Given the description of an element on the screen output the (x, y) to click on. 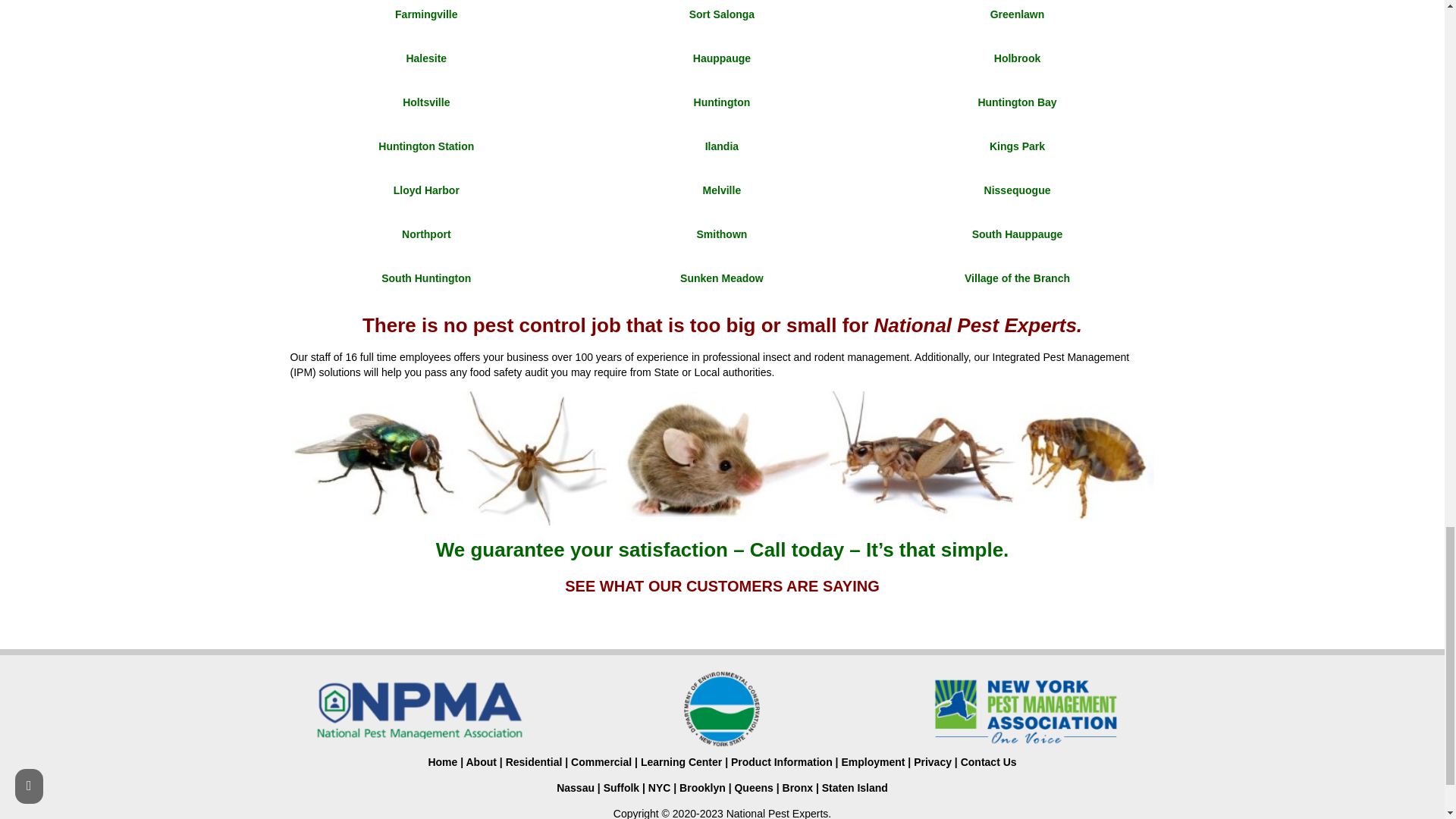
Holtsville Exterminating and Pest Control (426, 102)
Hauppauge Exterminating and Pest Control (722, 58)
Greenlawn Exterminating and Pest Control (1017, 14)
Halesite Exterminating and Pest Control (426, 58)
Fort Salonga Exterminating and Pest Control (721, 14)
Holbrook Exterminating and Pest Control (1017, 58)
Farmingville Exterminating and Pest Control (425, 14)
Huntington Exterminating and Pest Control (722, 102)
